Given the description of an element on the screen output the (x, y) to click on. 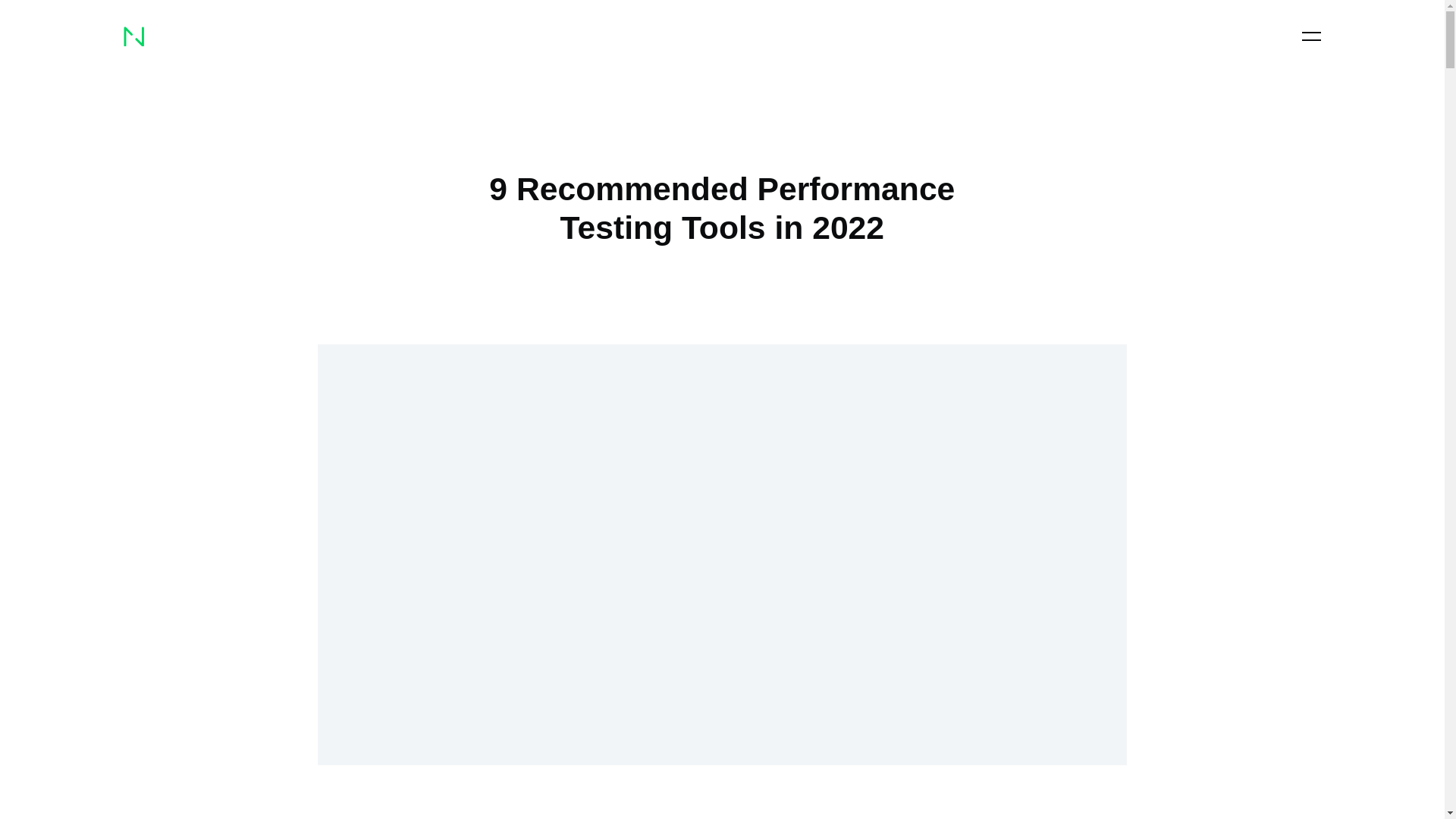
Toggle menu (1310, 36)
